Given the description of an element on the screen output the (x, y) to click on. 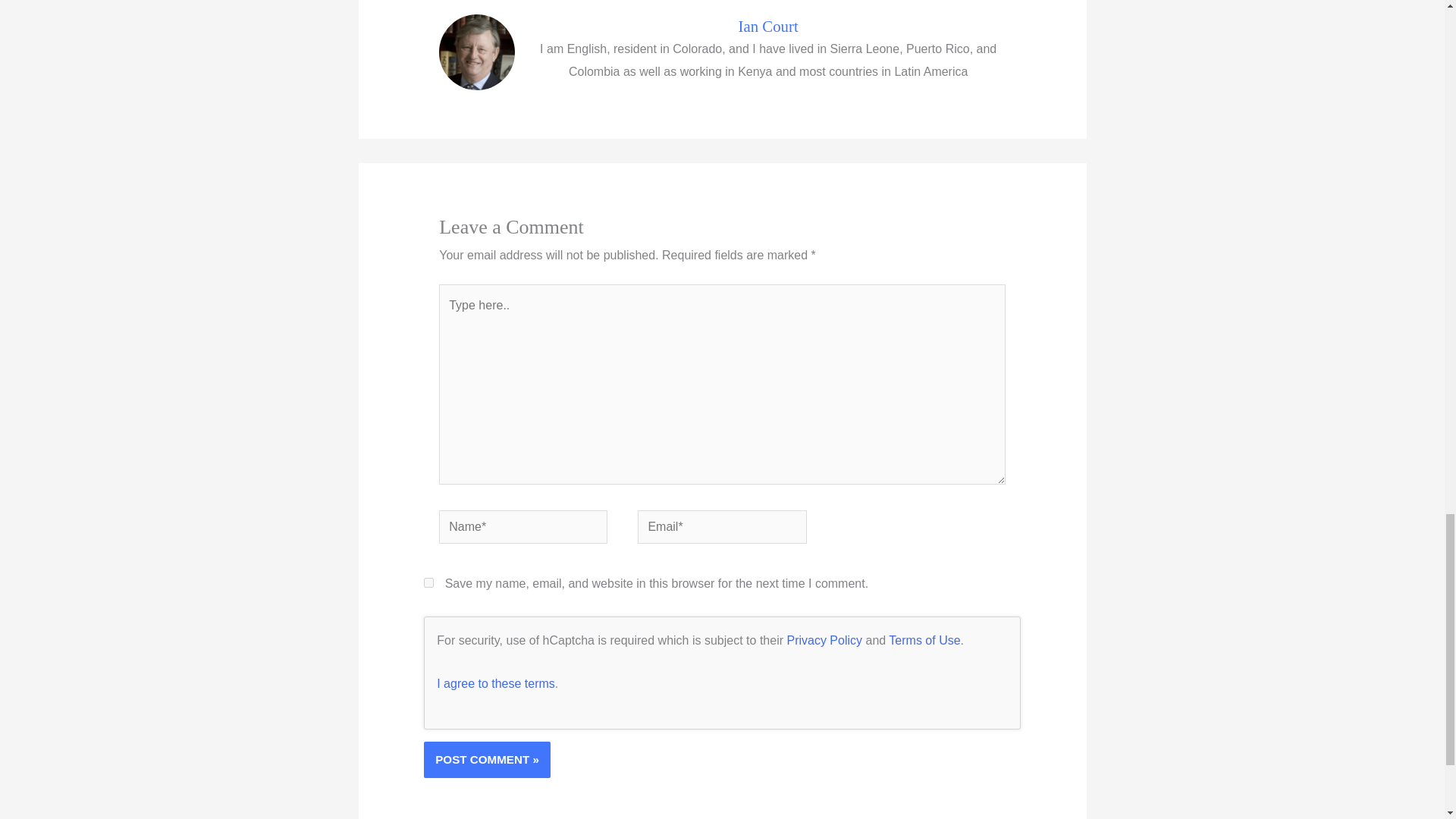
Terms of Use (923, 640)
I agree to these terms (495, 683)
Privacy Policy (823, 640)
yes (428, 583)
Ian Court (768, 25)
